Given the description of an element on the screen output the (x, y) to click on. 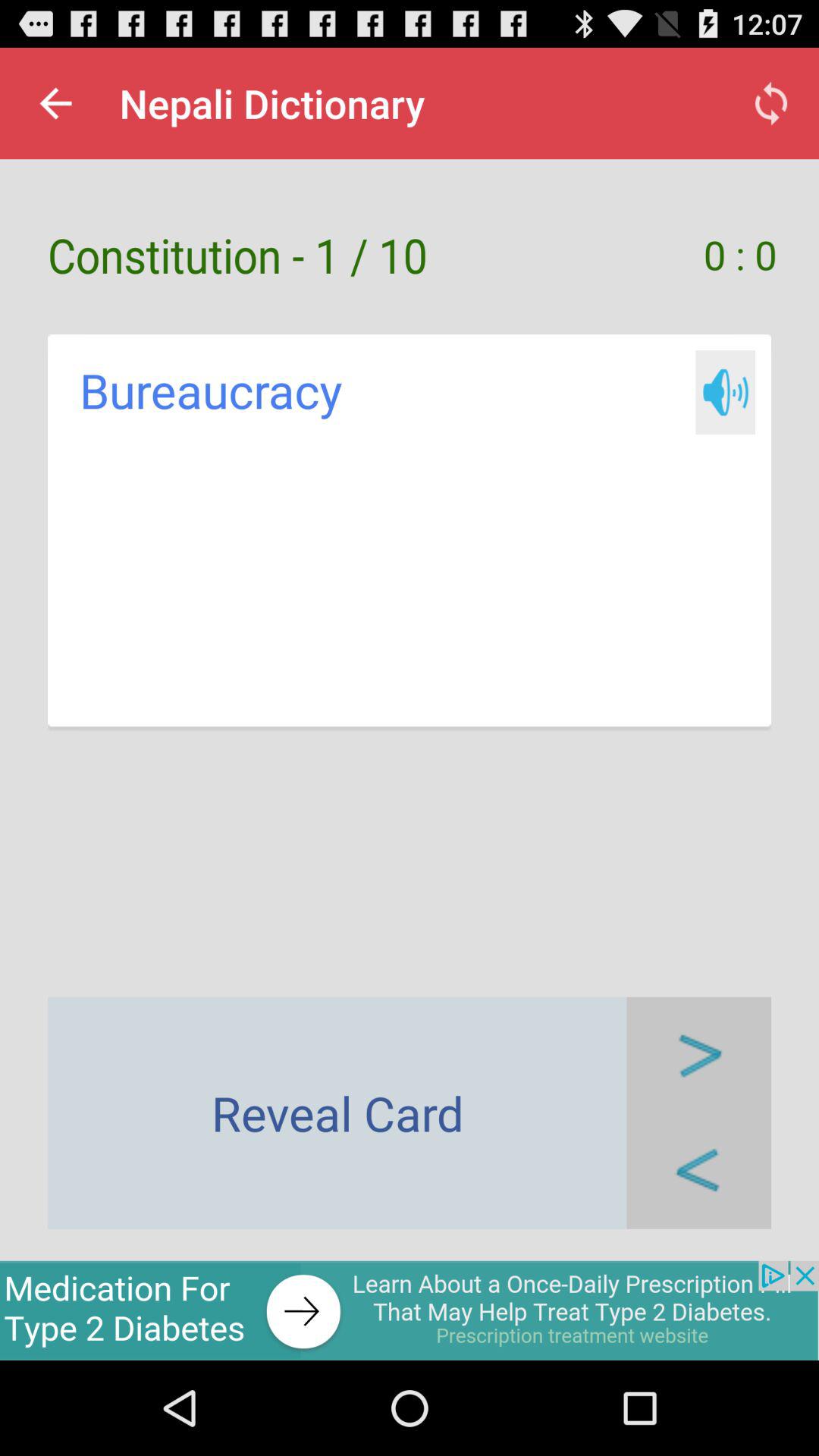
hear written sound (725, 392)
